Given the description of an element on the screen output the (x, y) to click on. 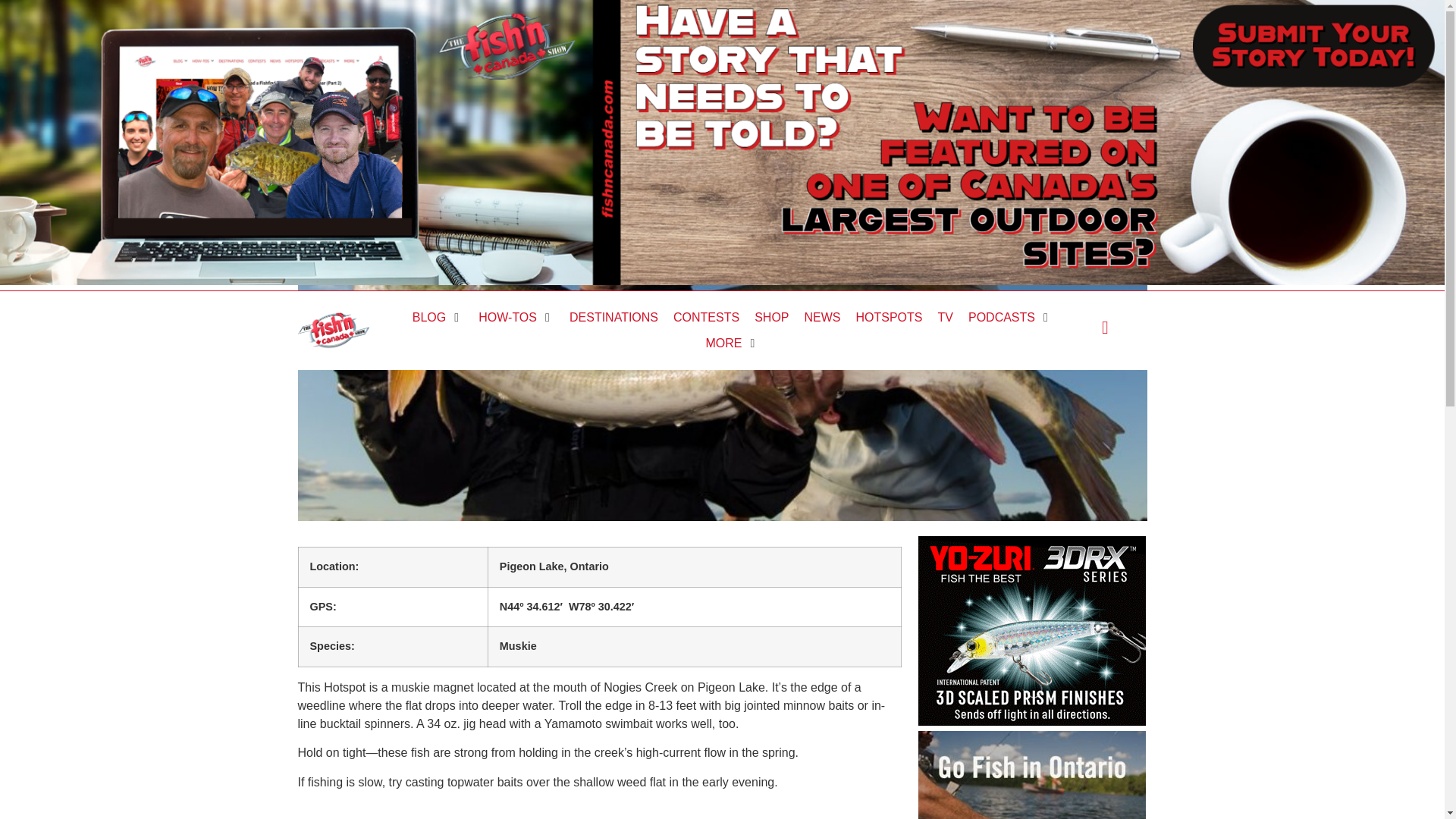
HOW-TOS (508, 317)
BLOG (428, 317)
DESTINATIONS (613, 317)
